Given the description of an element on the screen output the (x, y) to click on. 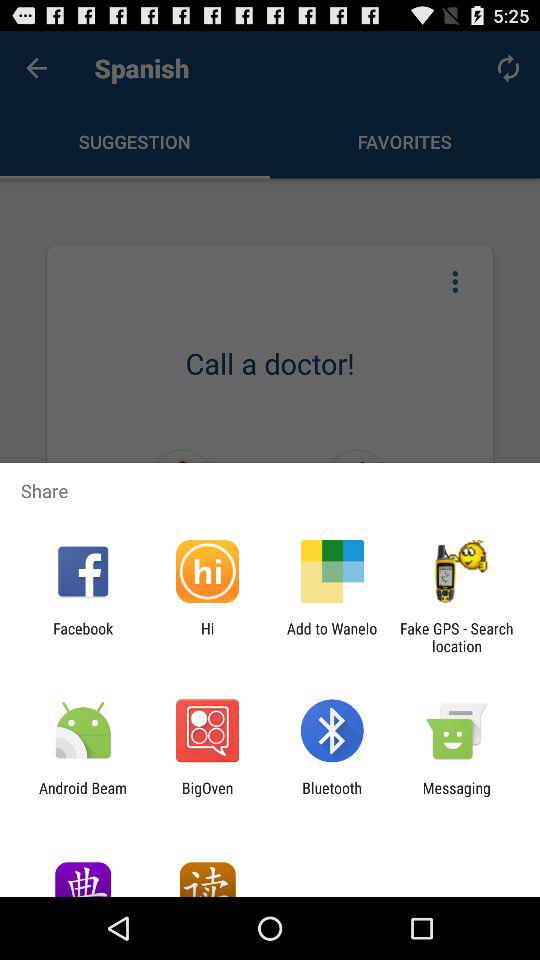
click app to the right of add to wanelo icon (456, 637)
